Given the description of an element on the screen output the (x, y) to click on. 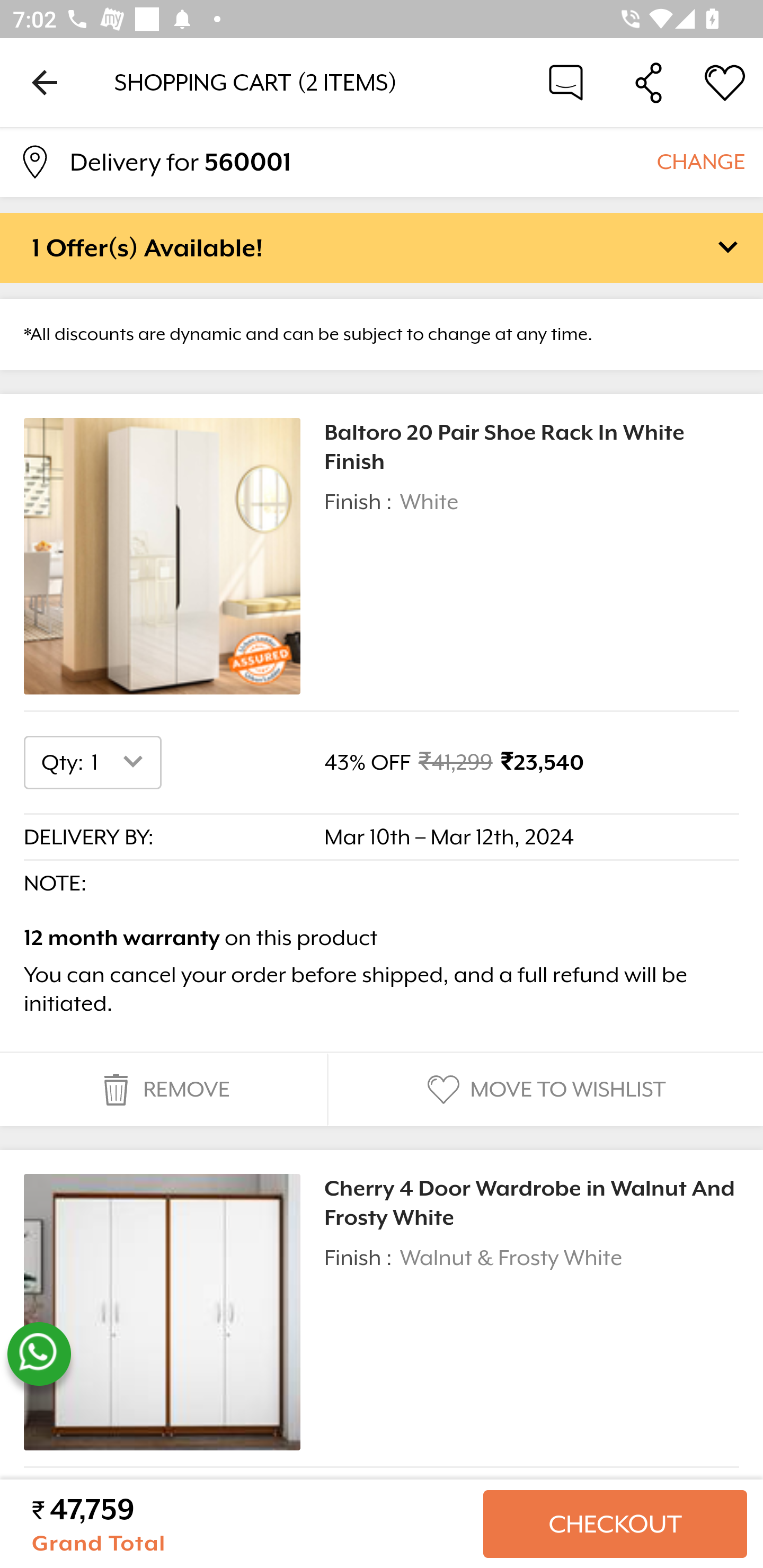
Navigate up (44, 82)
Chat (565, 81)
Share Cart (648, 81)
Wishlist (724, 81)
CHANGE (700, 161)
1 Offer(s) Available! (381, 247)
1 (121, 761)
REMOVE (163, 1089)
MOVE TO WISHLIST (544, 1089)
whatsapp (38, 1353)
₹ 47,759 Grand Total (250, 1523)
CHECKOUT (614, 1523)
